Given the description of an element on the screen output the (x, y) to click on. 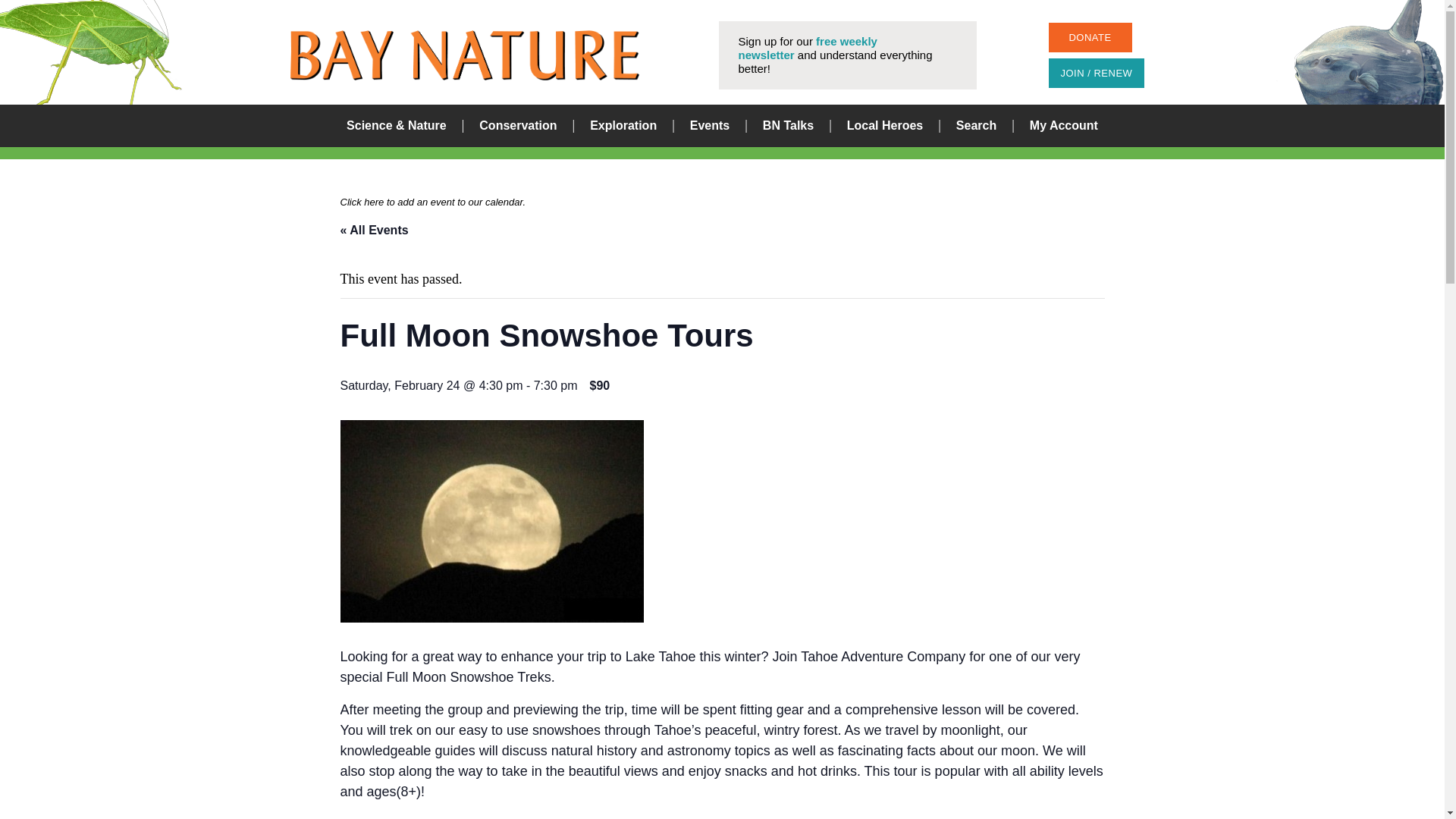
Events (709, 125)
BN Talks (787, 125)
Click here to add an event to our calendar. (432, 200)
Local Heroes (885, 125)
Search (975, 125)
Bay Nature (464, 54)
My Account (1063, 125)
free weekly newsletter (807, 48)
Conservation (517, 125)
Exploration (622, 125)
